Given the description of an element on the screen output the (x, y) to click on. 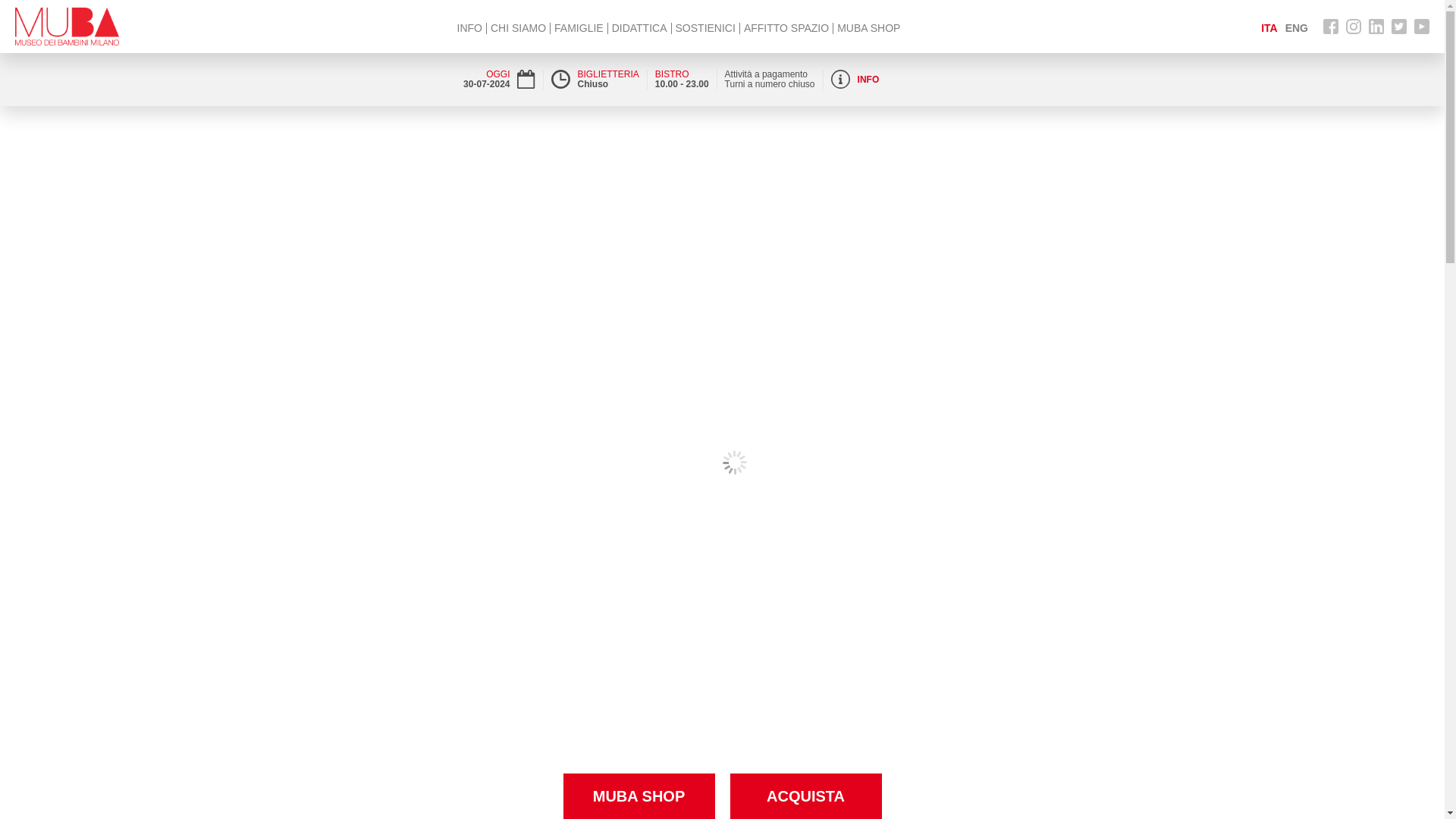
SOSTIENICI (705, 26)
Muba on Twitter (1398, 19)
Muba on LinkedIn (1376, 19)
OGGI (497, 73)
FAMIGLIE (579, 26)
Muba on Facebook (1330, 19)
ITA (1269, 28)
INFO (868, 80)
Muba on Instagram (1353, 19)
DIDATTICA (638, 26)
CHI SIAMO (518, 26)
AFFITTO SPAZIO (786, 26)
MUBA SHOP (868, 26)
BIGLIETTERIA (608, 73)
BISTRO (671, 73)
